Given the description of an element on the screen output the (x, y) to click on. 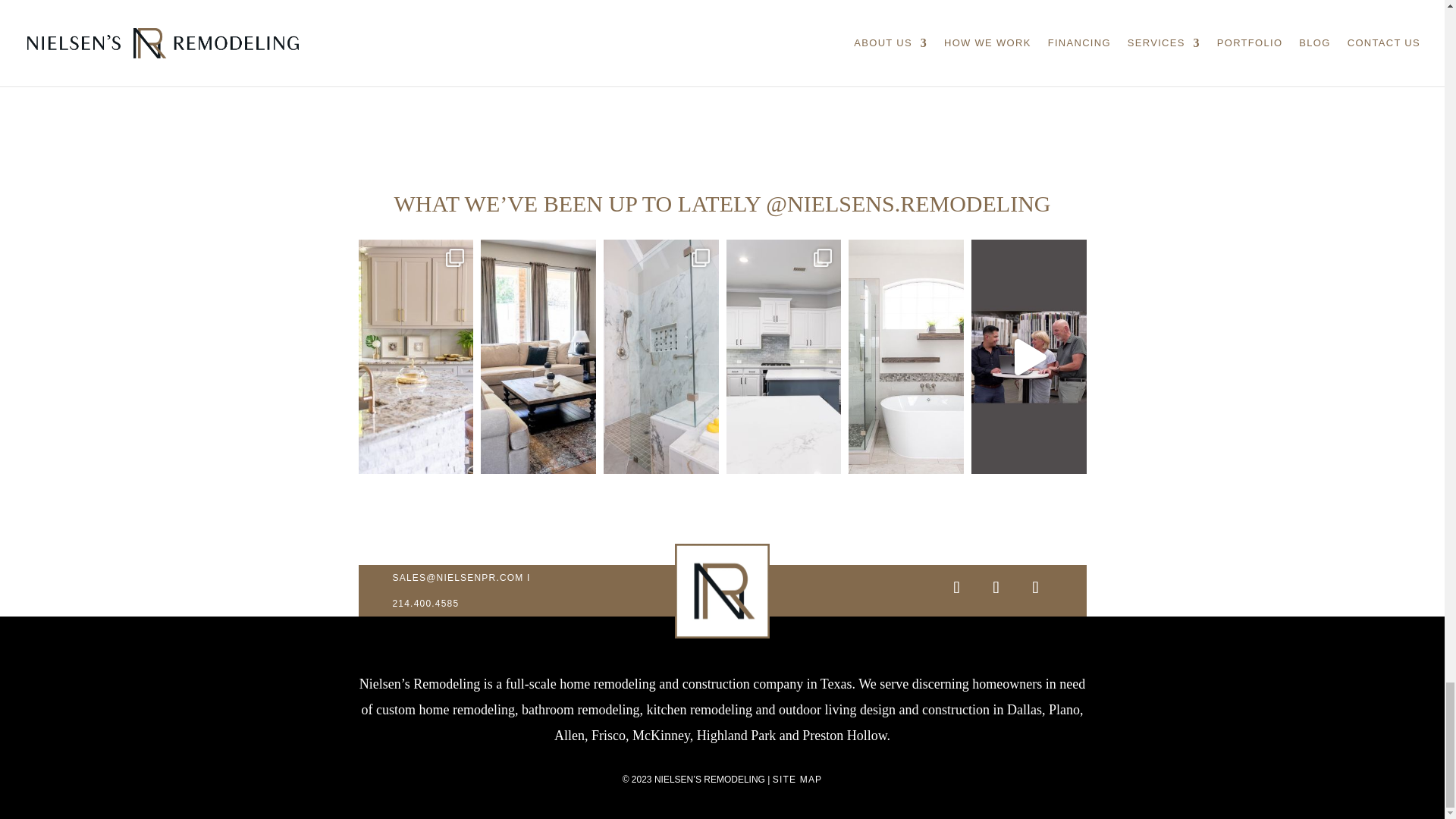
Follow on Instagram (955, 587)
Submit Comment (1000, 9)
Nielsen Remodeling (722, 590)
Follow on X (994, 587)
Follow on Facebook (1034, 587)
